Given the description of an element on the screen output the (x, y) to click on. 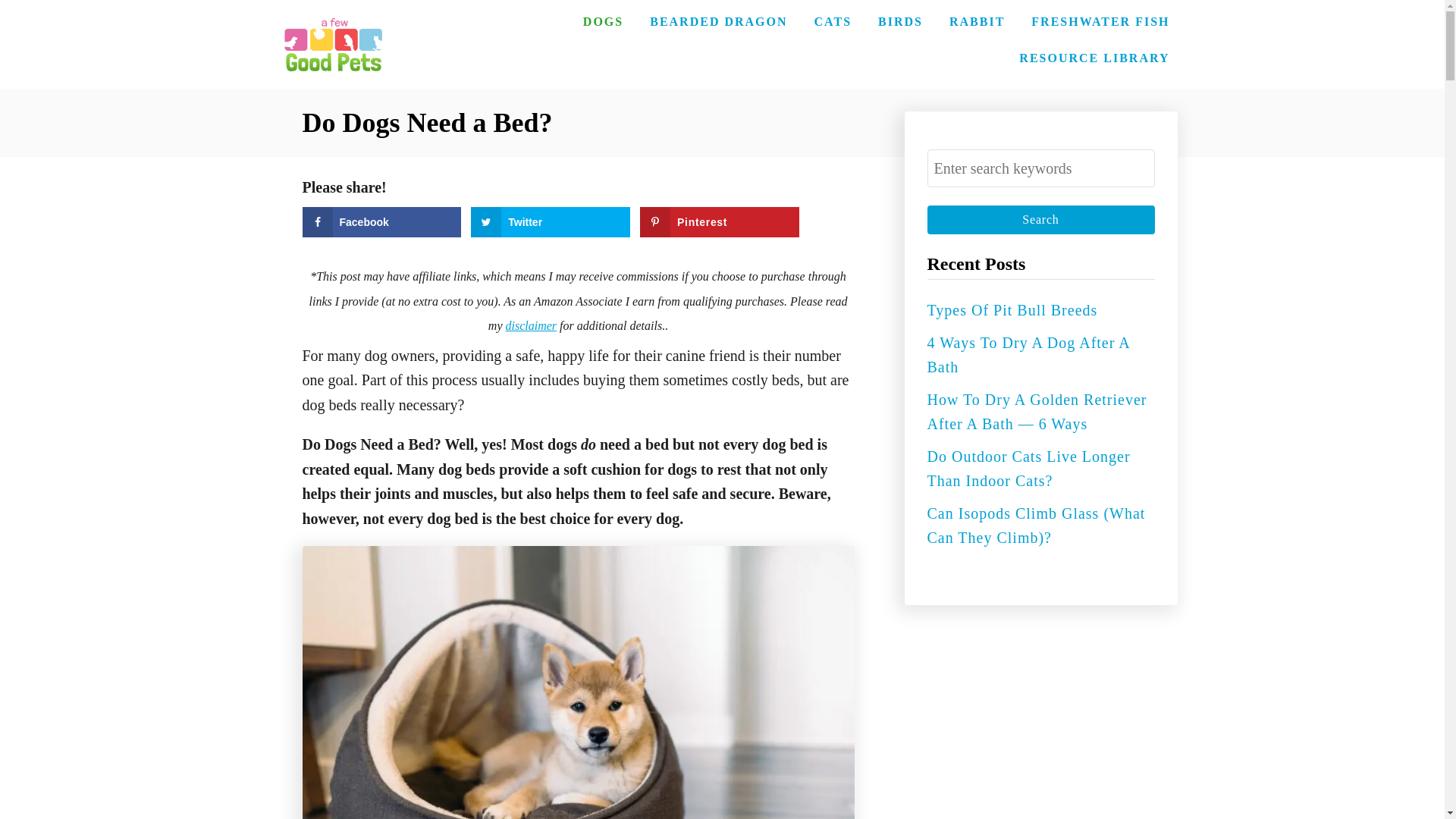
A Few Good Pets (333, 43)
CATS (833, 21)
Search (1040, 219)
RABBIT (976, 21)
Share on Twitter (550, 222)
DOGS (602, 21)
FRESHWATER FISH (1099, 21)
disclaimer (530, 325)
Share on Facebook (381, 222)
Twitter (550, 222)
BEARDED DRAGON (718, 21)
Search (1040, 219)
BIRDS (900, 21)
Facebook (381, 222)
RESOURCE LIBRARY (1093, 58)
